Given the description of an element on the screen output the (x, y) to click on. 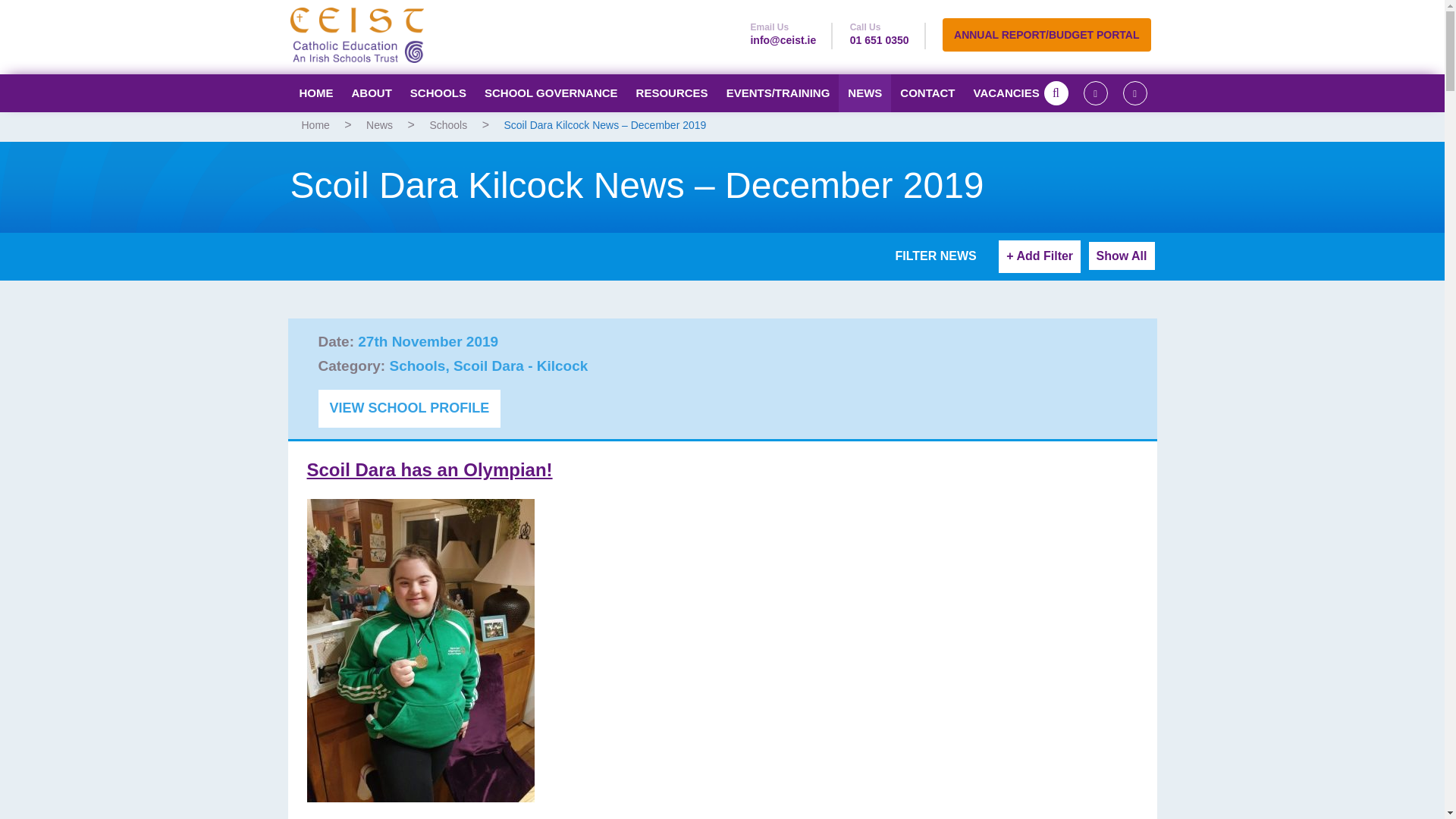
HOME (315, 93)
ABOUT (371, 93)
01 651 0350 (879, 39)
